Given the description of an element on the screen output the (x, y) to click on. 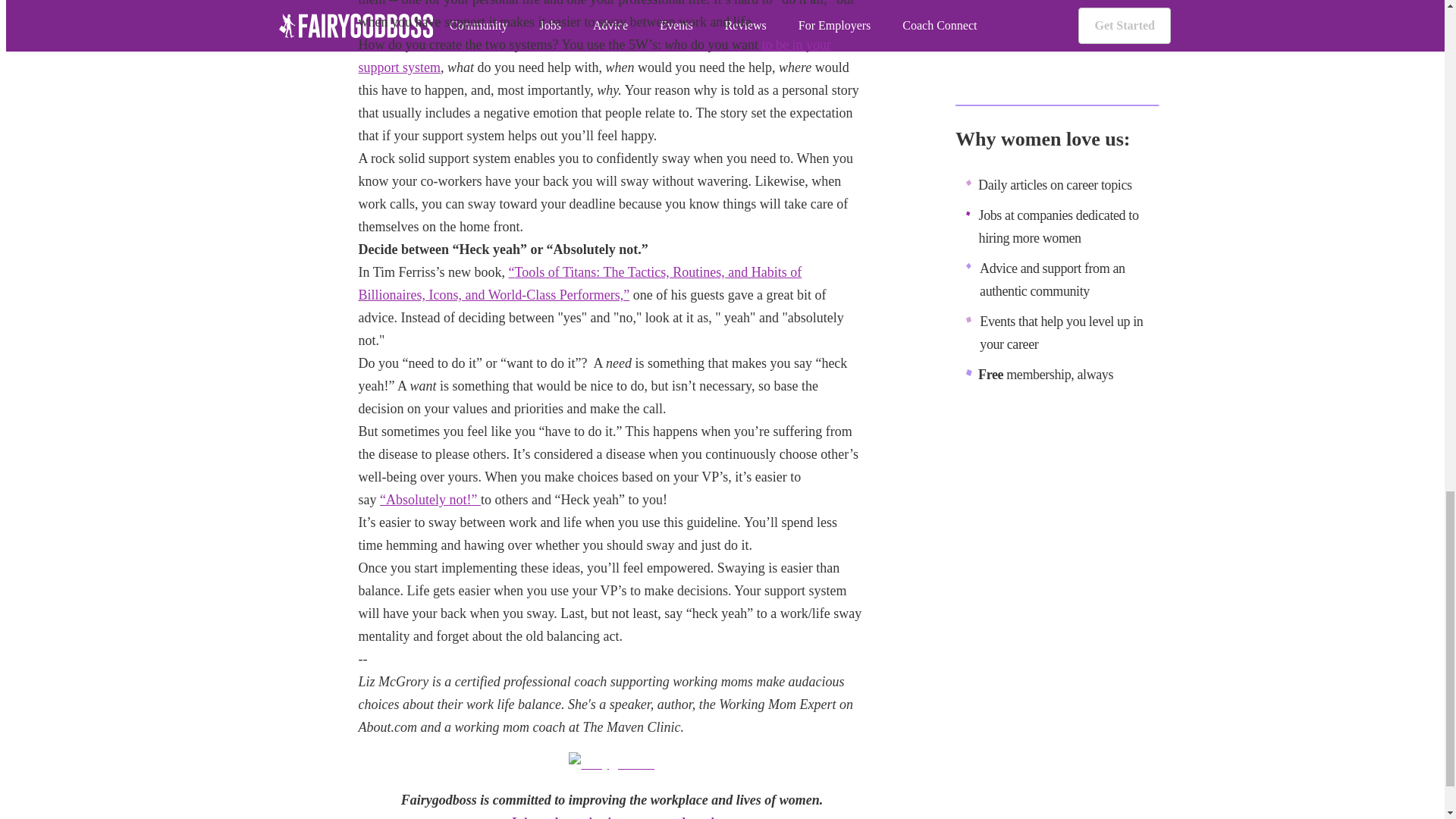
to be in your support system (593, 55)
